Given the description of an element on the screen output the (x, y) to click on. 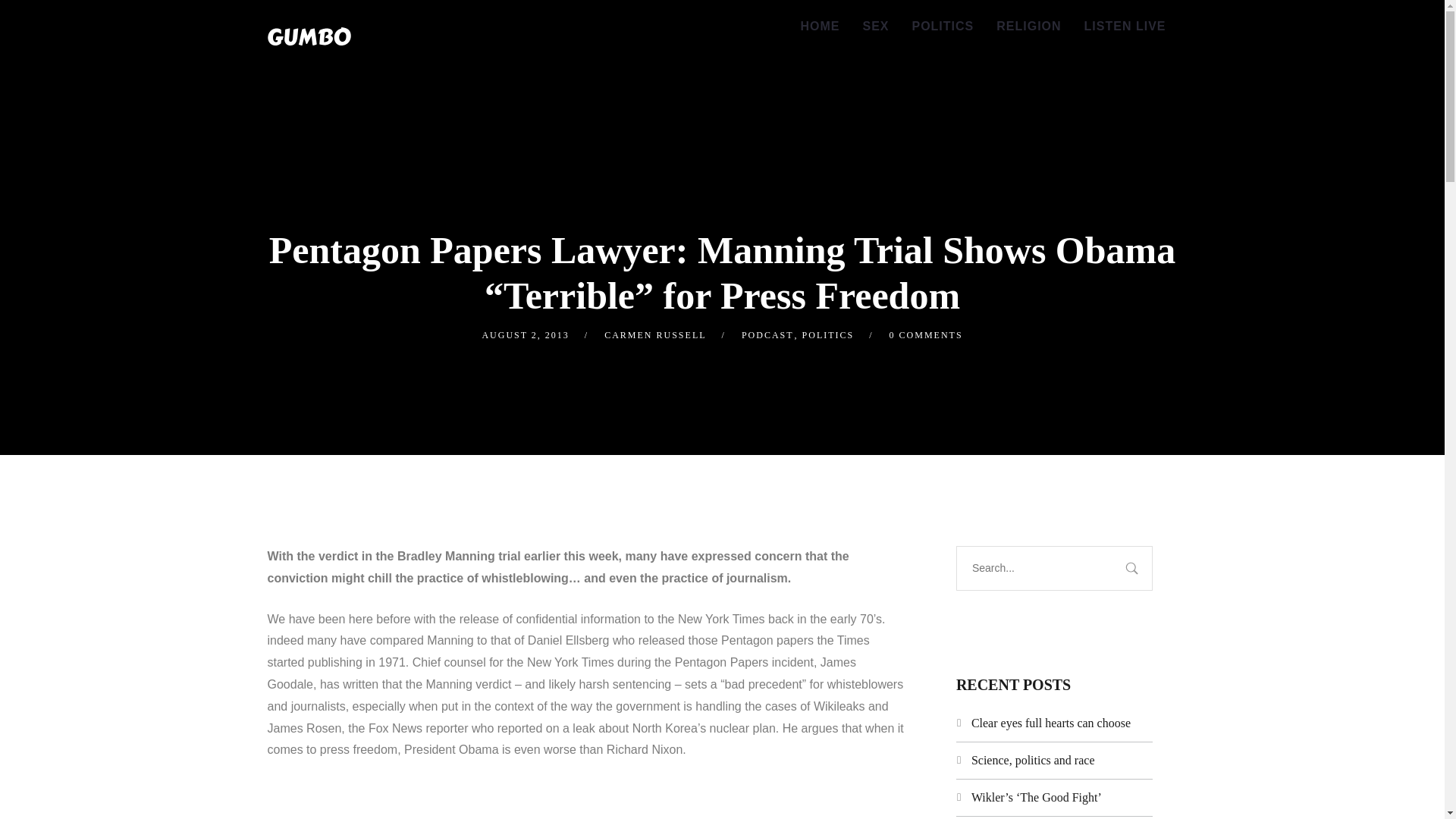
HOME (819, 26)
Clear eyes full hearts can choose (1051, 722)
0 COMMENTS (925, 335)
POLITICS (828, 335)
LISTEN LIVE (1125, 26)
POLITICS (942, 26)
Spar With Jamila (308, 36)
SEX (874, 26)
CARMEN RUSSELL (655, 335)
Science, politics and race (1032, 759)
